Given the description of an element on the screen output the (x, y) to click on. 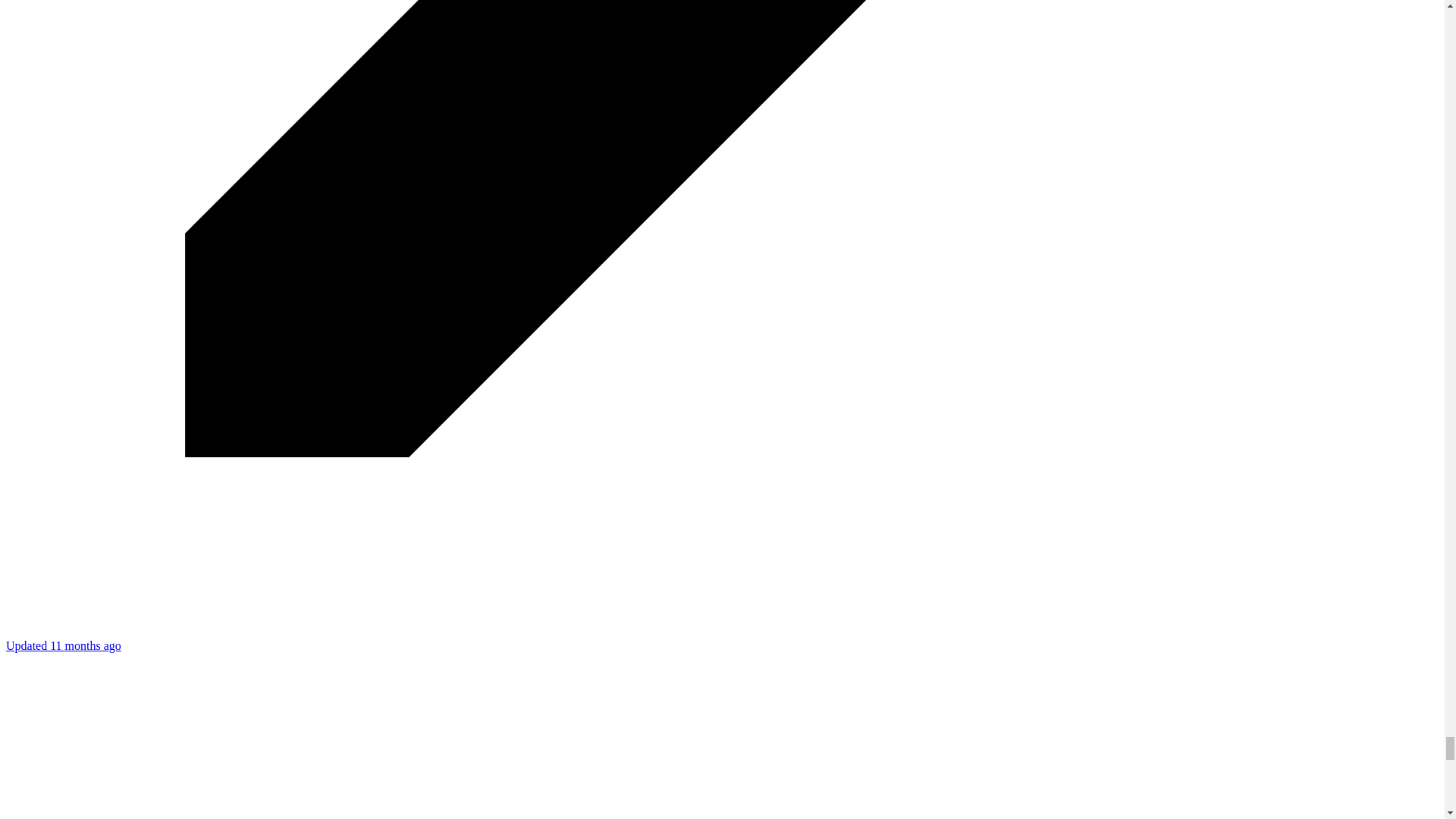
Mon, Aug 21, 2023 9:54 PM (62, 645)
